Given the description of an element on the screen output the (x, y) to click on. 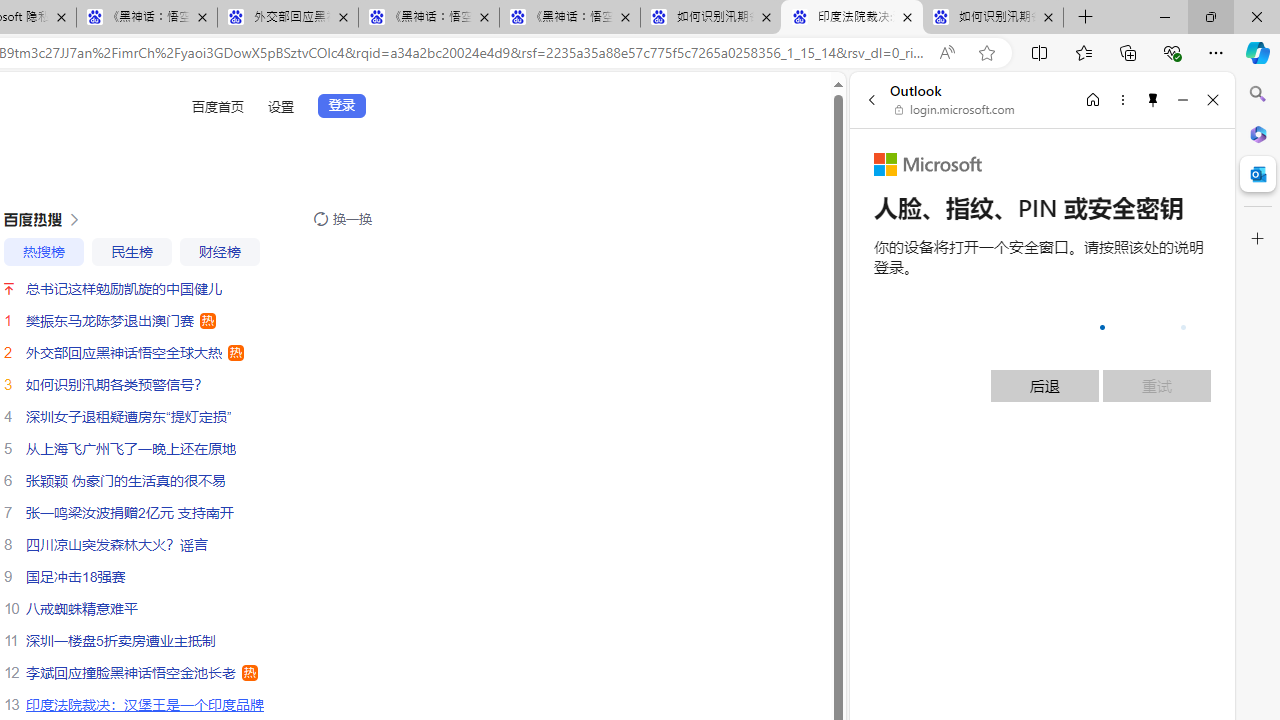
Unpin side pane (1153, 99)
